Given the description of an element on the screen output the (x, y) to click on. 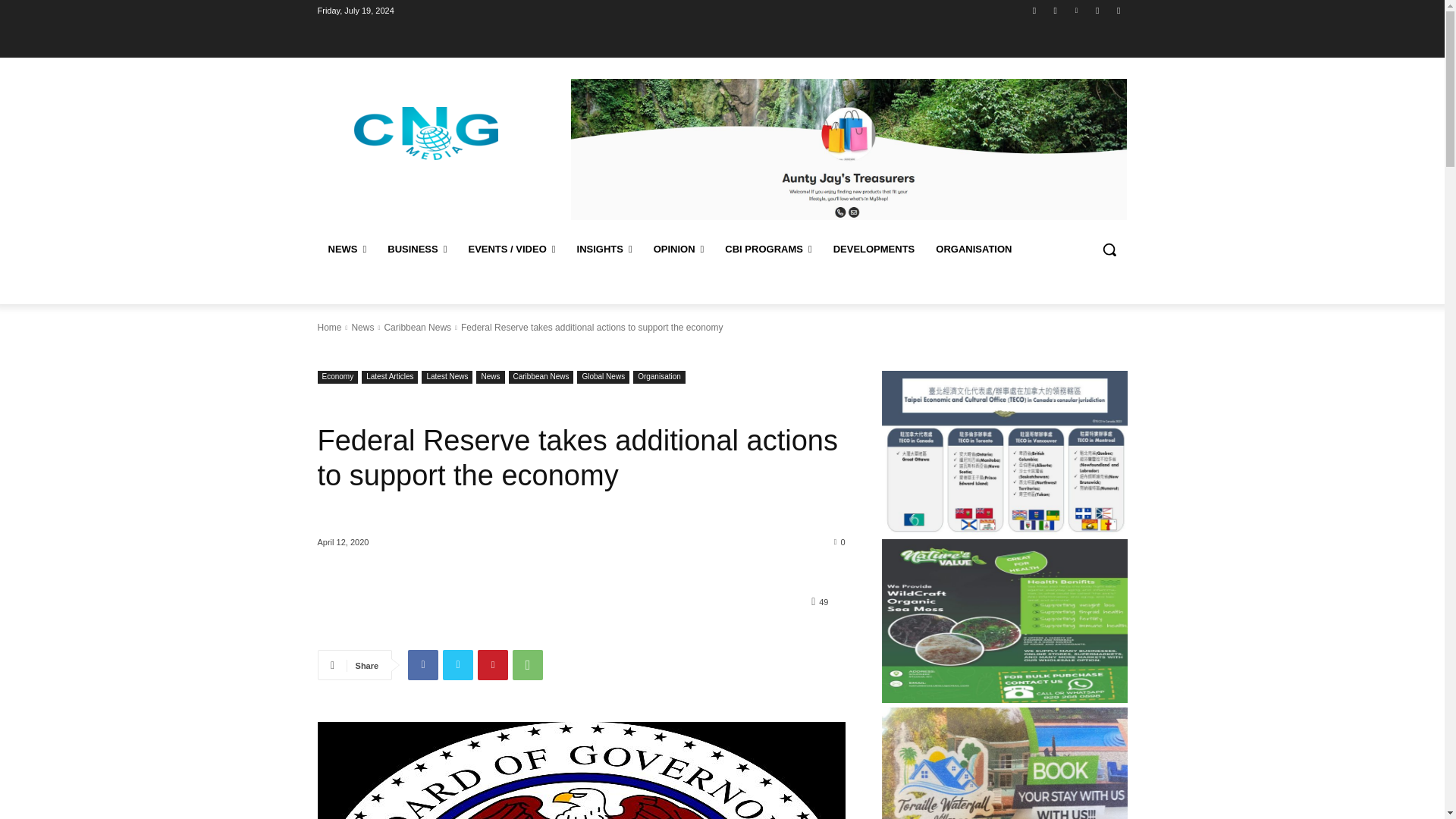
NEWS (347, 248)
Youtube (1117, 9)
Instagram (1055, 9)
Twitter (1097, 9)
Linkedin (1075, 9)
Facebook (1034, 9)
